Given the description of an element on the screen output the (x, y) to click on. 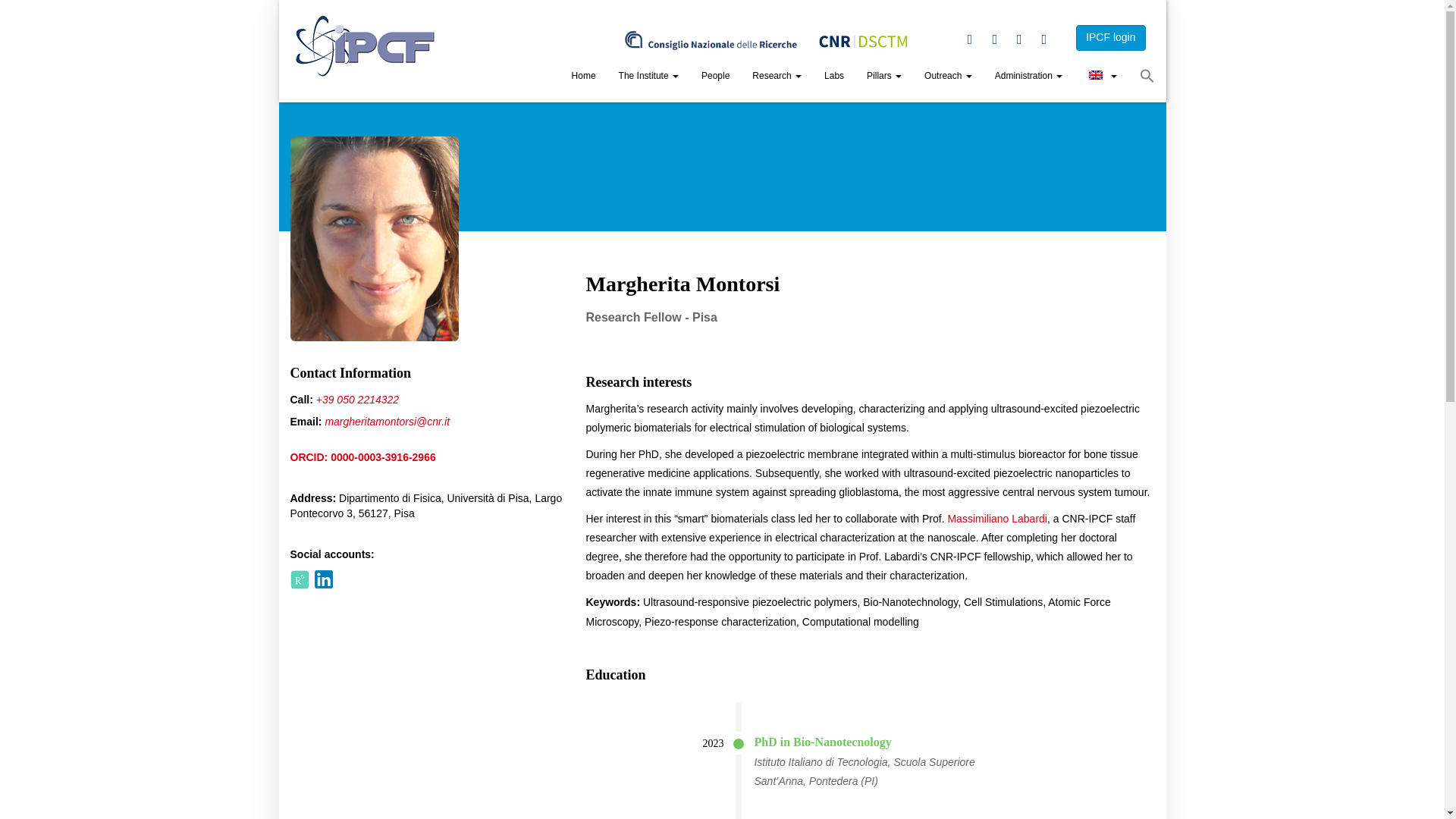
The Institute (648, 76)
Outreach (948, 76)
The Institute (648, 76)
IPCF login (1109, 37)
Labs (834, 76)
Pillars (884, 76)
Research (776, 76)
People (715, 76)
IPCF (365, 46)
People (715, 76)
Home (583, 76)
Administration (1029, 76)
Research (776, 76)
Home (583, 76)
